Given the description of an element on the screen output the (x, y) to click on. 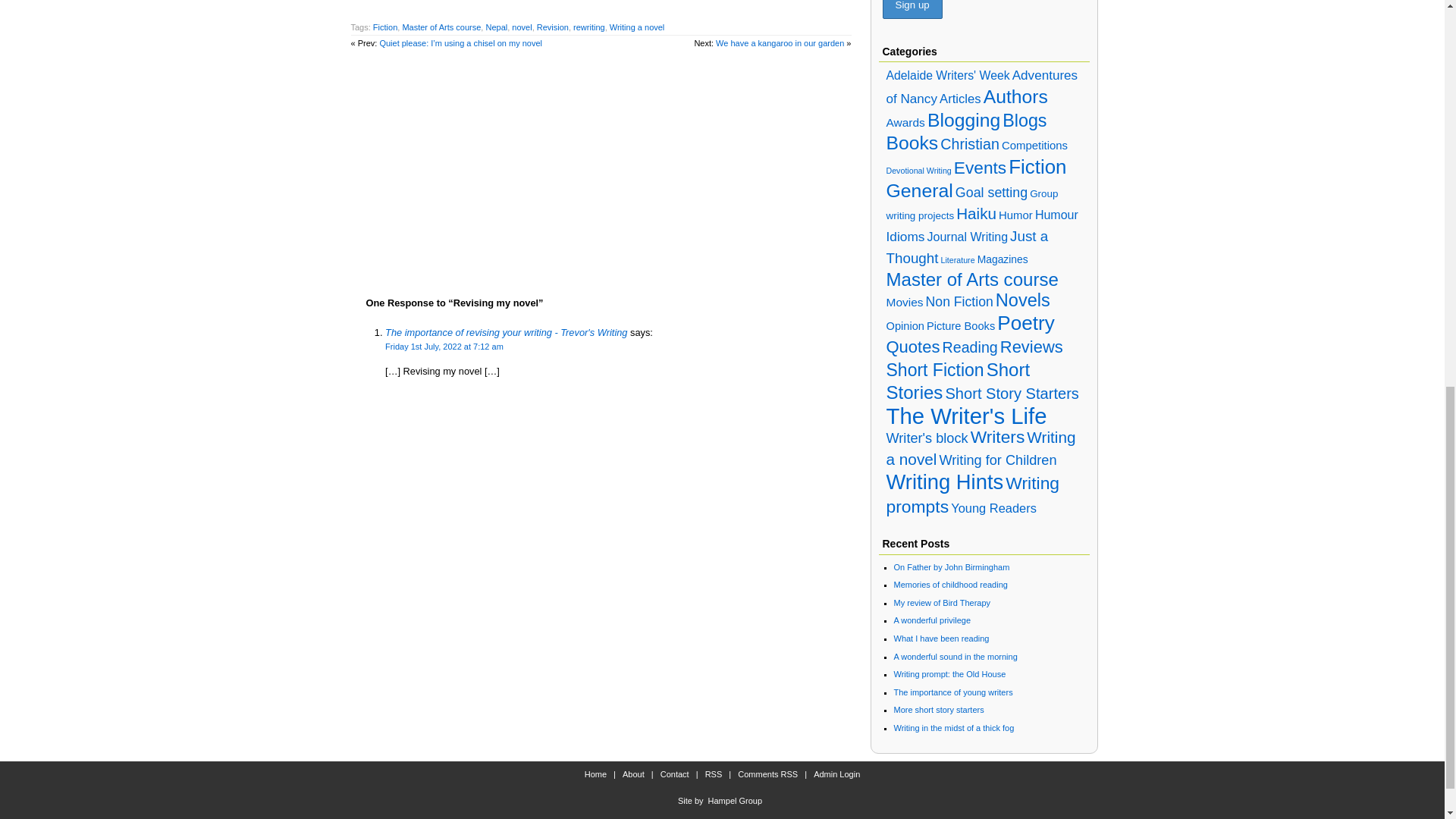
Fiction (384, 26)
Nepal (495, 26)
Writing a novel (637, 26)
rewriting (589, 26)
We have a kangaroo in our garden (780, 42)
Friday 1st July, 2022 at 7:12 am (444, 346)
Revision (553, 26)
Master of Arts course (440, 26)
novel (521, 26)
The importance of revising your writing - Trevor's Writing (506, 332)
Advertisement (600, 164)
Sign up (912, 9)
Sign up (912, 9)
